Given the description of an element on the screen output the (x, y) to click on. 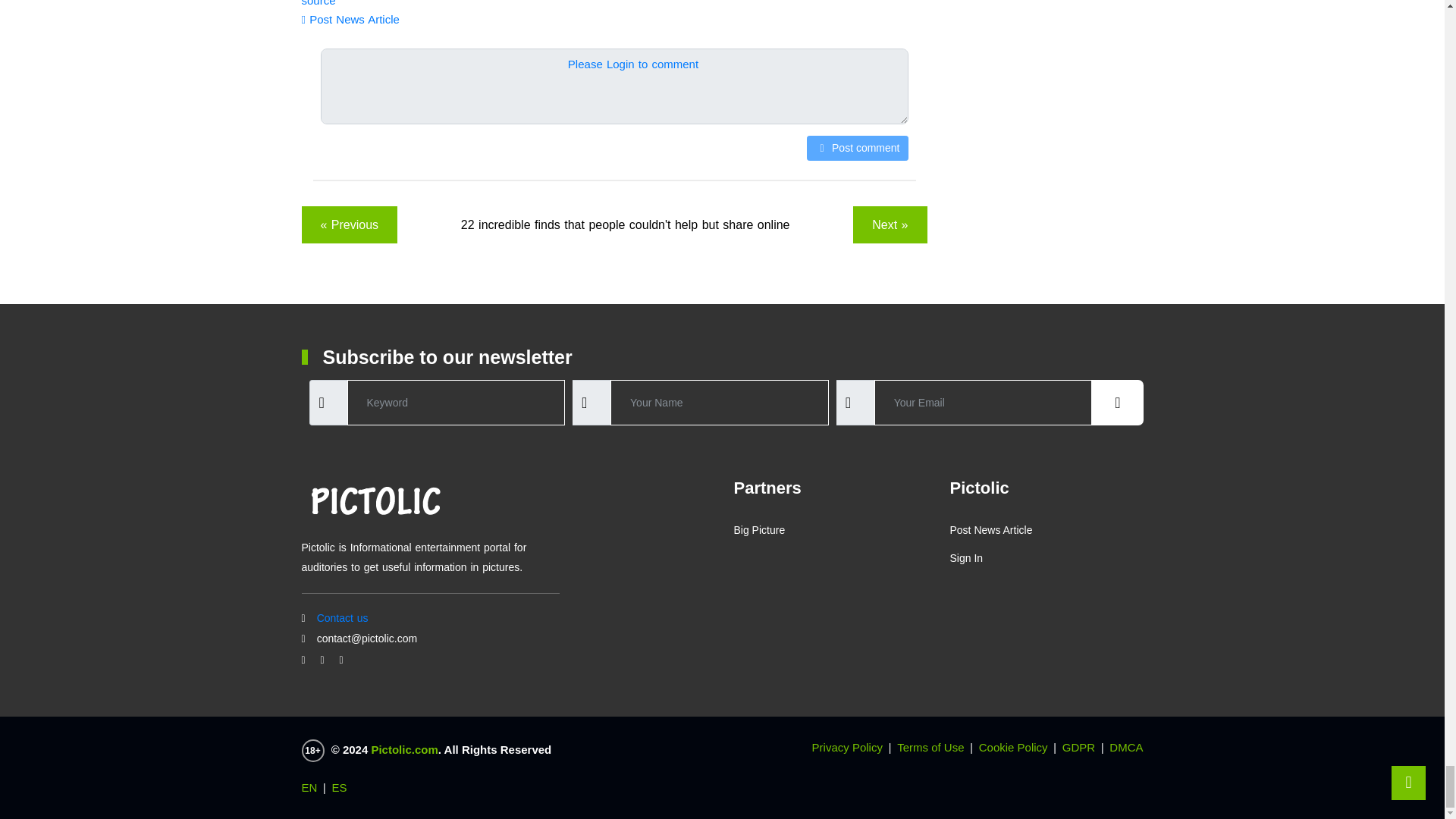
source (318, 3)
Post comment (856, 147)
Please Login to comment (632, 64)
Post News Article (349, 19)
